Given the description of an element on the screen output the (x, y) to click on. 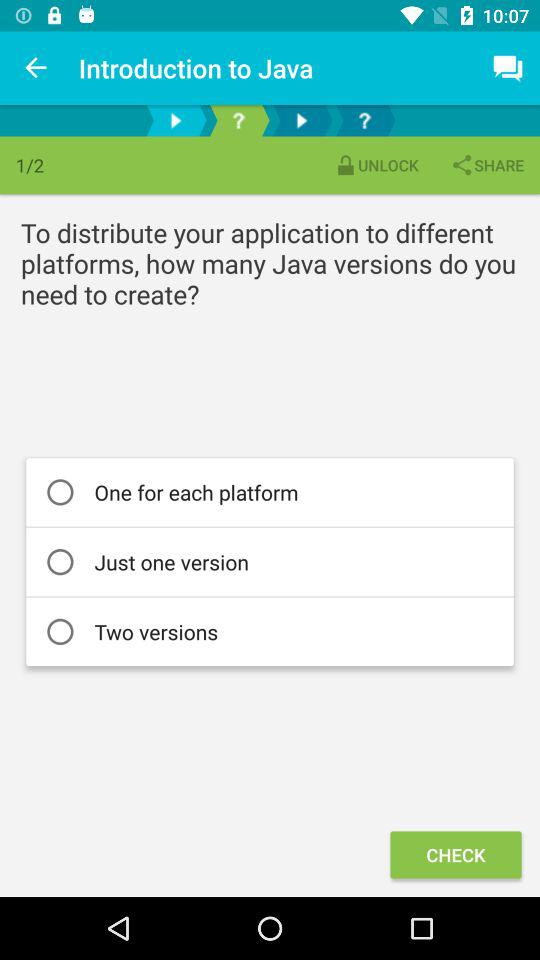
open question menu (238, 120)
